Given the description of an element on the screen output the (x, y) to click on. 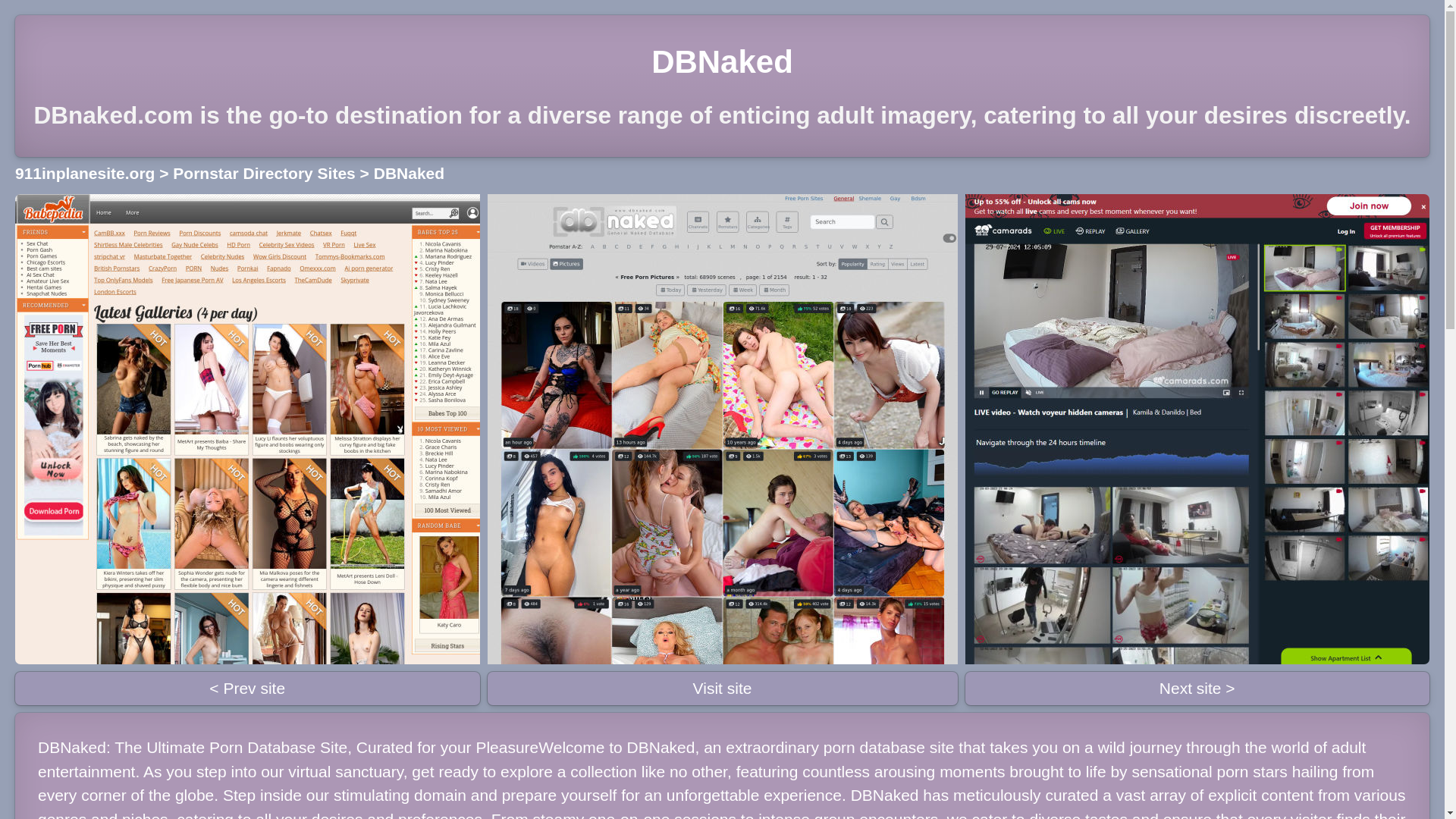
Pornstar Directory Sites (264, 172)
DBNaked (409, 172)
911inplanesite.org (84, 172)
Visit site (721, 688)
